Given the description of an element on the screen output the (x, y) to click on. 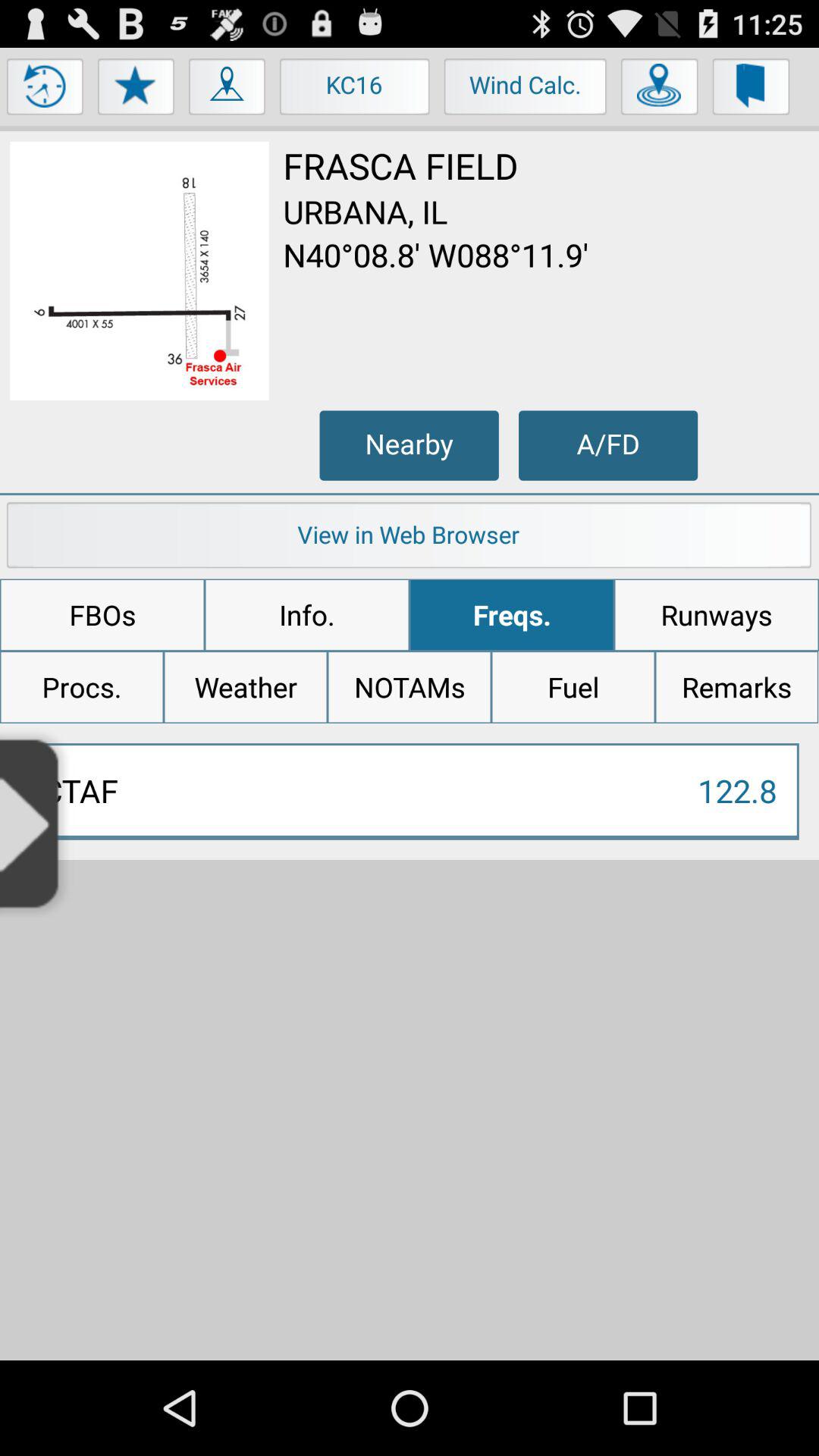
press the fbos item (102, 615)
